Given the description of an element on the screen output the (x, y) to click on. 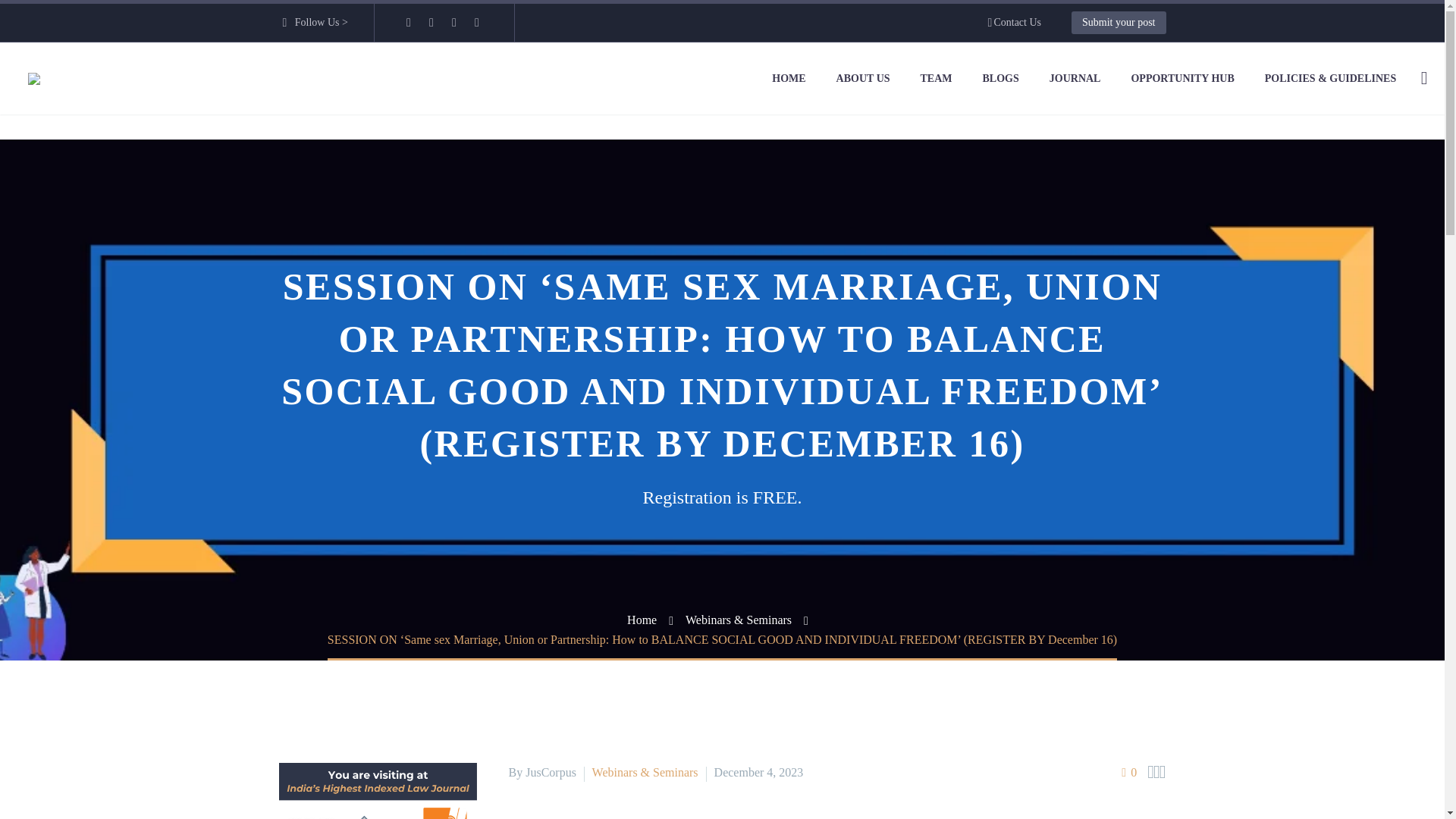
0 (1129, 772)
JOURNAL (1074, 78)
ABOUT US (863, 78)
OPPORTUNITY HUB (1182, 78)
Previous post (1150, 772)
YouTube (476, 22)
Like this (1129, 772)
HOME (789, 78)
Contact Us (1014, 22)
Instagram (453, 22)
BLOGS (1000, 78)
Home (641, 619)
LinkedIn (431, 22)
Facebook (408, 22)
Submit your post (1118, 22)
